Given the description of an element on the screen output the (x, y) to click on. 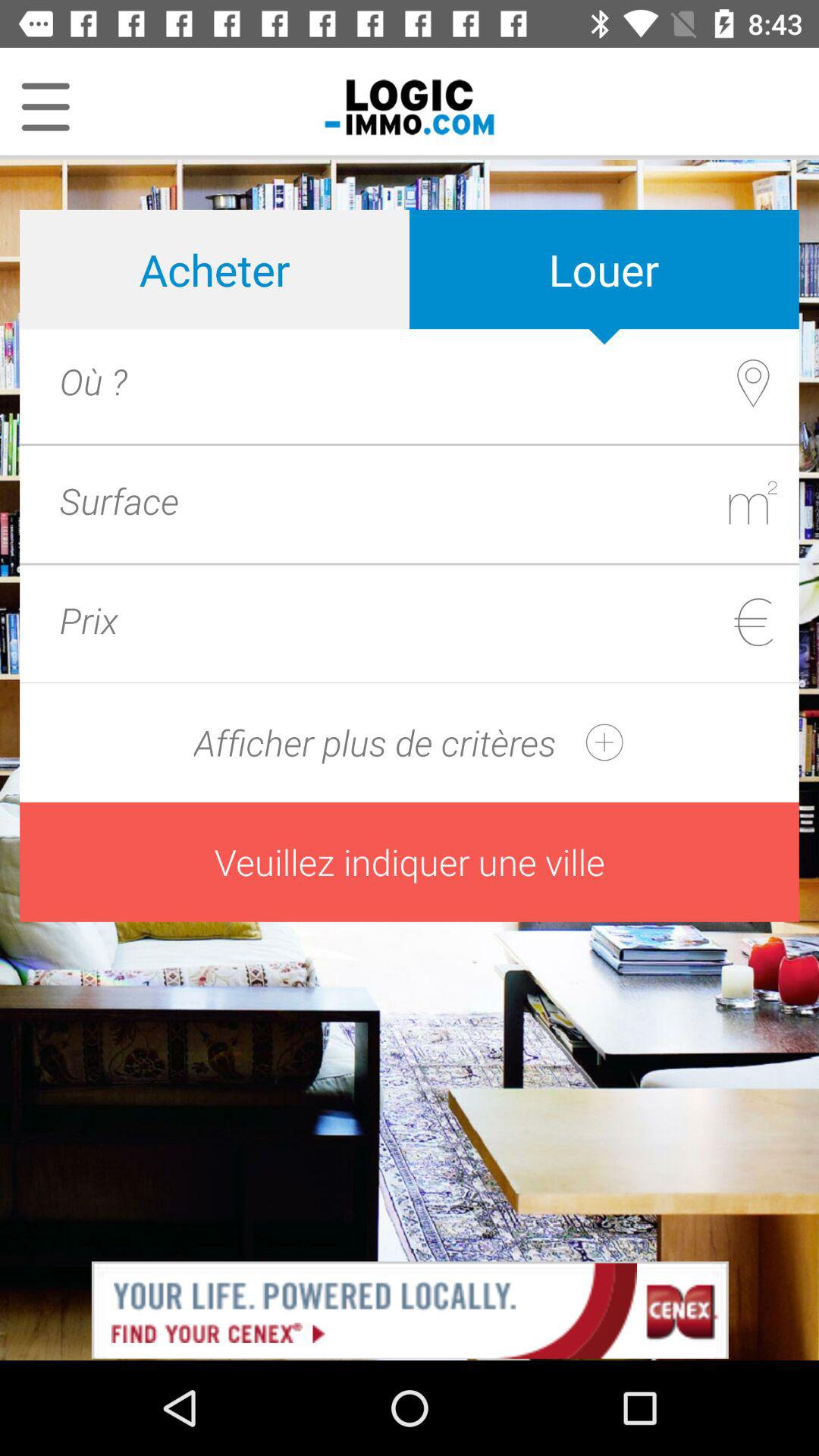
enter location (441, 381)
